Given the description of an element on the screen output the (x, y) to click on. 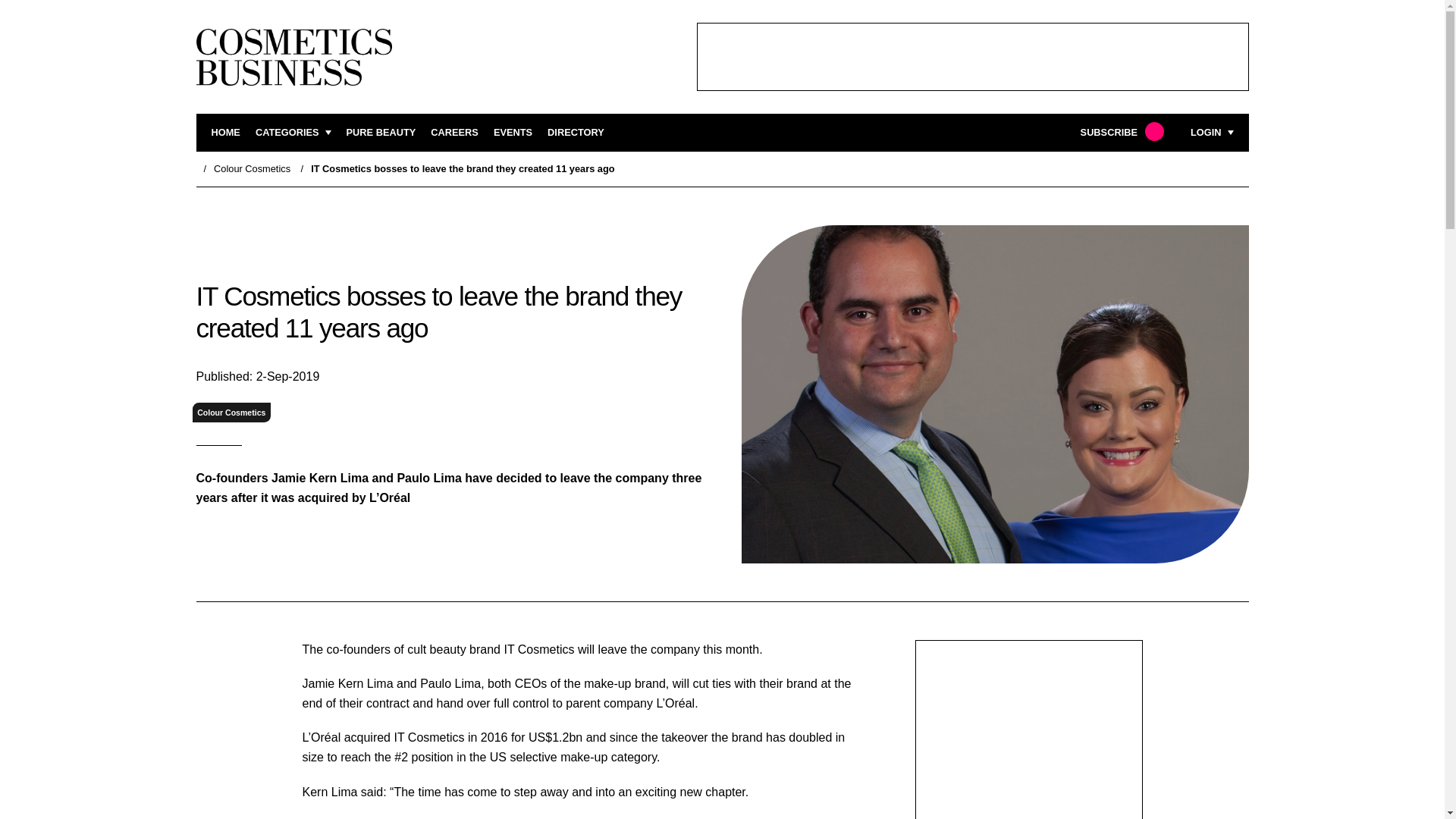
CATEGORIES (293, 133)
Directory (575, 133)
LOGIN (1212, 133)
PURE BEAUTY (381, 133)
HOME (225, 133)
Pure Beauty (381, 133)
CAREERS (454, 133)
SUBSCRIBE (1120, 133)
EVENTS (512, 133)
Sign In (1134, 321)
Colour Cosmetics (251, 168)
Colour Cosmetics (231, 412)
DIRECTORY (575, 133)
